Given the description of an element on the screen output the (x, y) to click on. 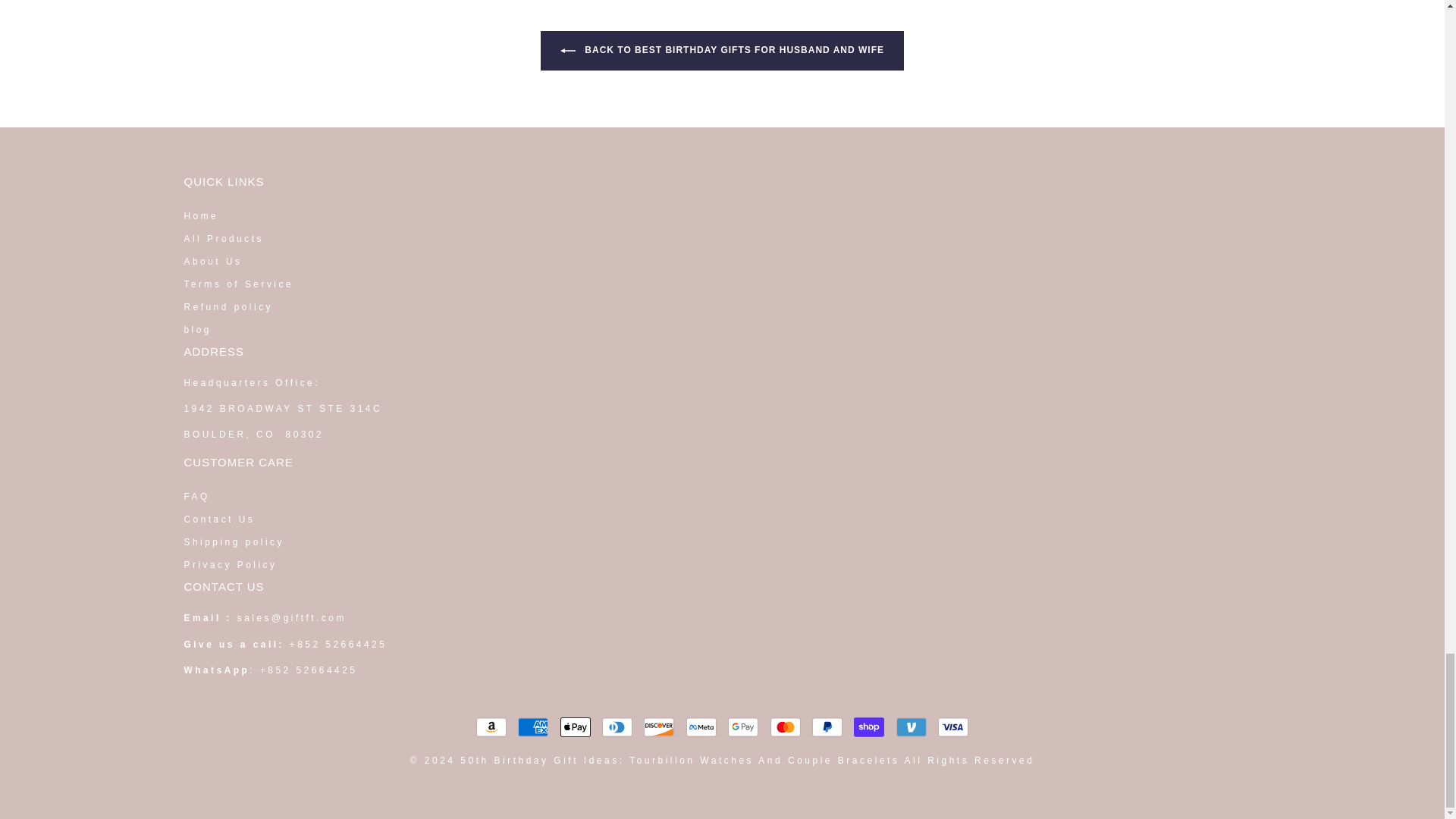
Diners Club (616, 726)
Discover (658, 726)
Google Pay (743, 726)
American Express (533, 726)
Meta Pay (700, 726)
Apple Pay (575, 726)
Mastercard (785, 726)
Amazon (491, 726)
